Given the description of an element on the screen output the (x, y) to click on. 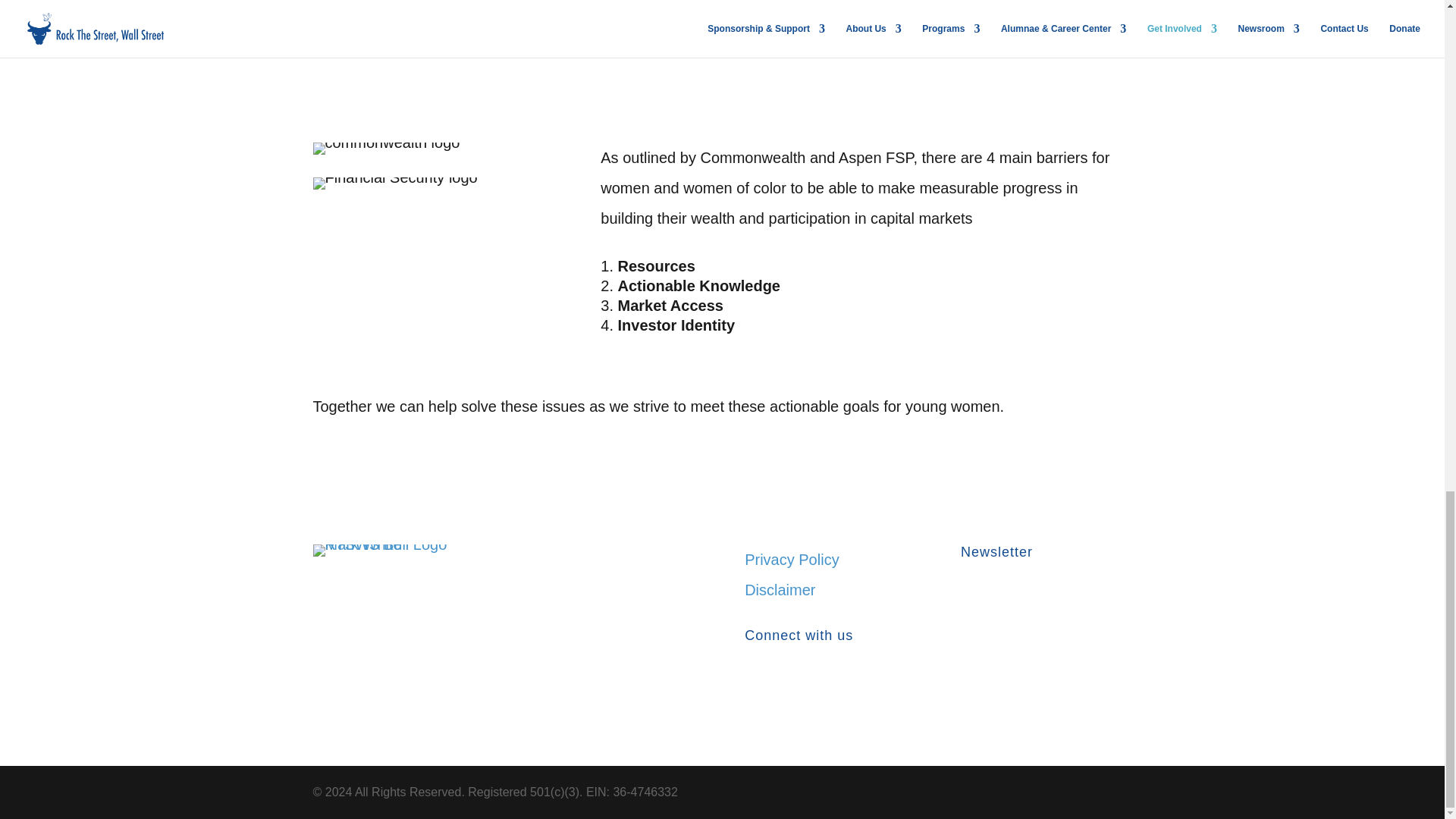
Financial Security logo (395, 183)
Follow on X (786, 686)
Follow on Facebook (756, 686)
Follow on LinkedIn (817, 686)
commonwealth logo (386, 148)
RTSWS-Bull-Logo-Mark-White (398, 550)
